Given the description of an element on the screen output the (x, y) to click on. 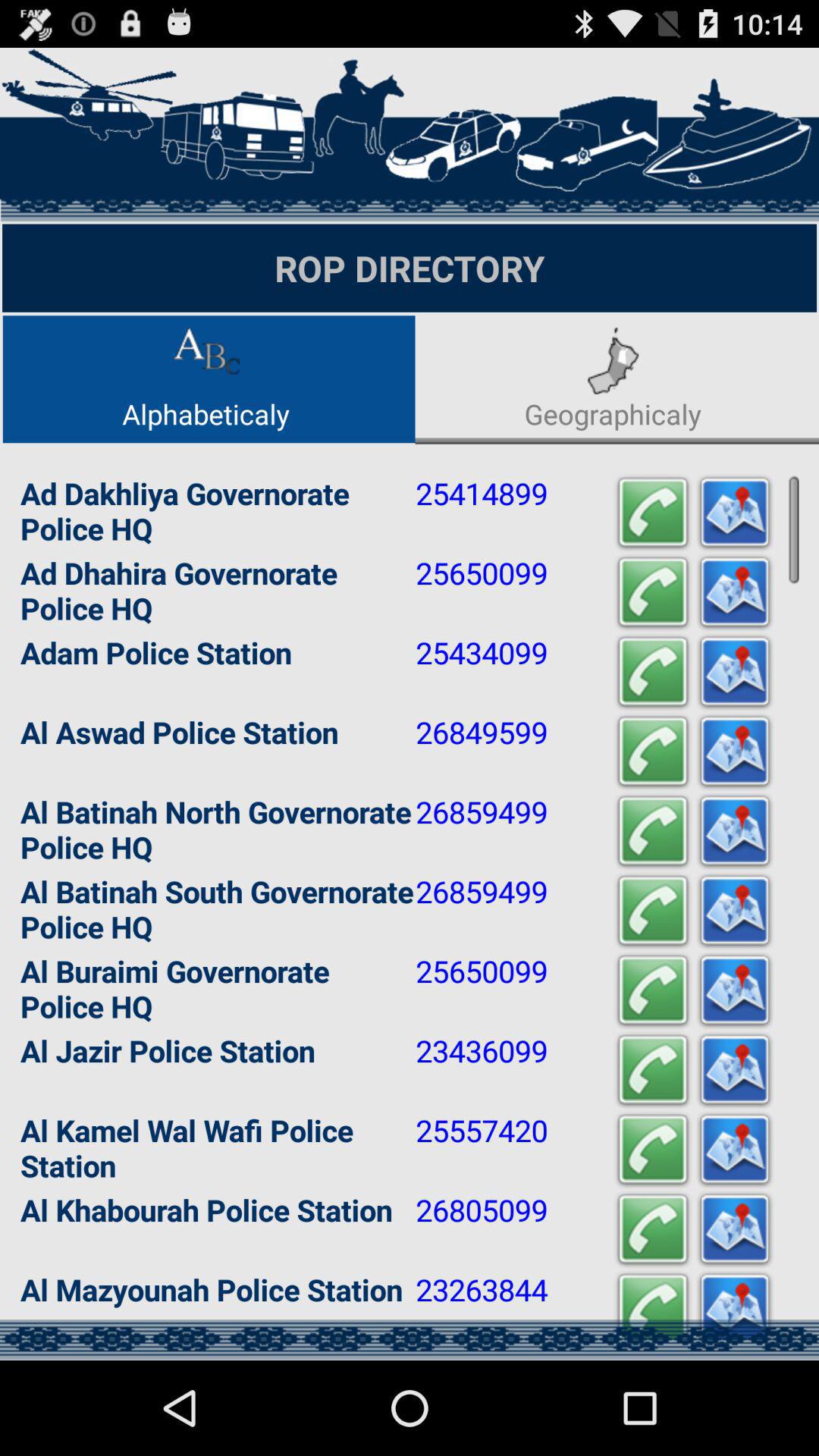
see address (734, 592)
